Given the description of an element on the screen output the (x, y) to click on. 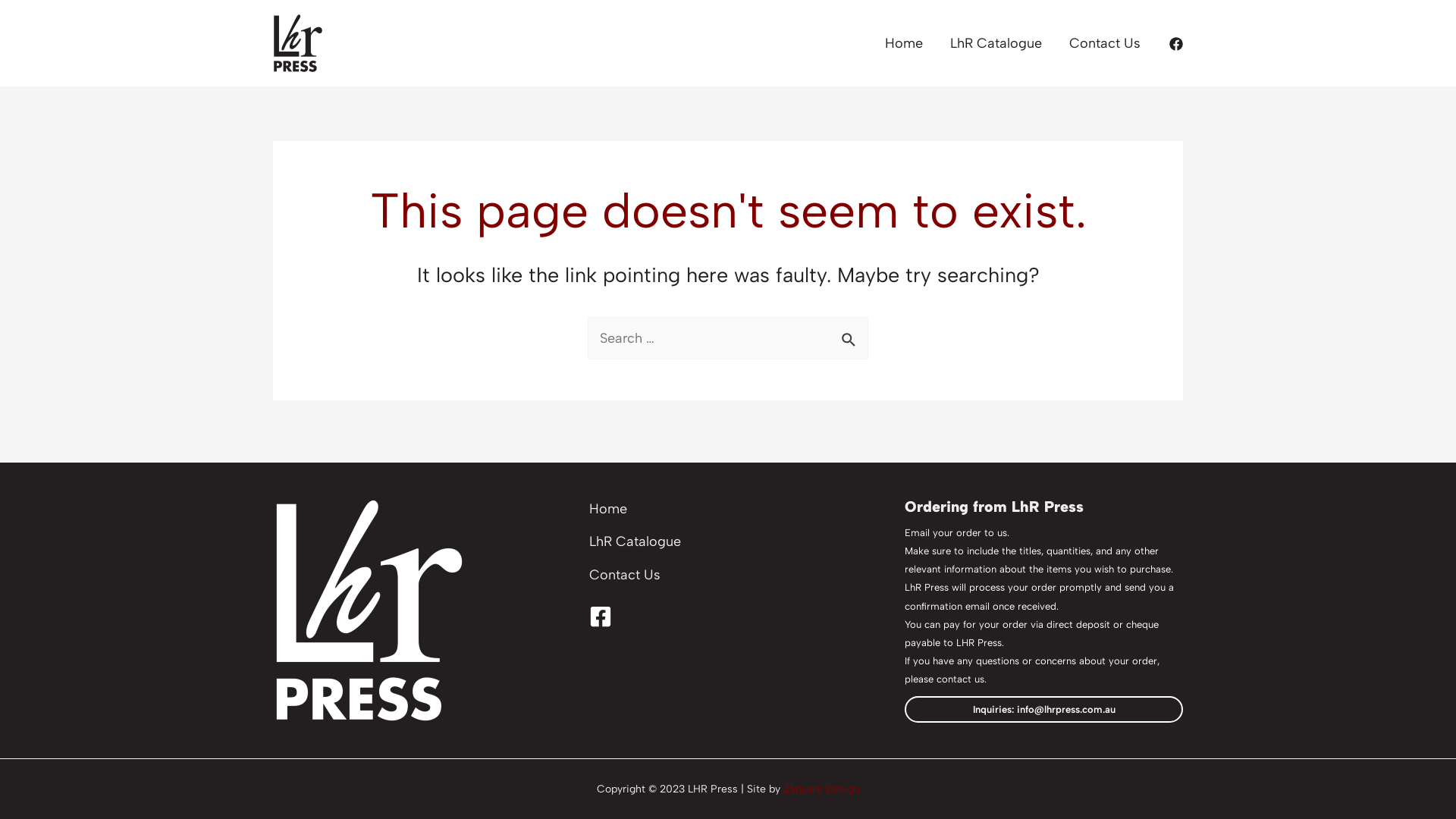
Inquiries: info@lhrpress.com.au Element type: text (1043, 708)
2Square Design Element type: text (820, 788)
Contact Us Element type: text (624, 578)
Home Element type: text (903, 42)
LhR Catalogue Element type: text (995, 42)
LhR Catalogue Element type: text (634, 545)
Contact Us Element type: text (1104, 42)
Search Element type: text (851, 333)
Home Element type: text (608, 512)
